Given the description of an element on the screen output the (x, y) to click on. 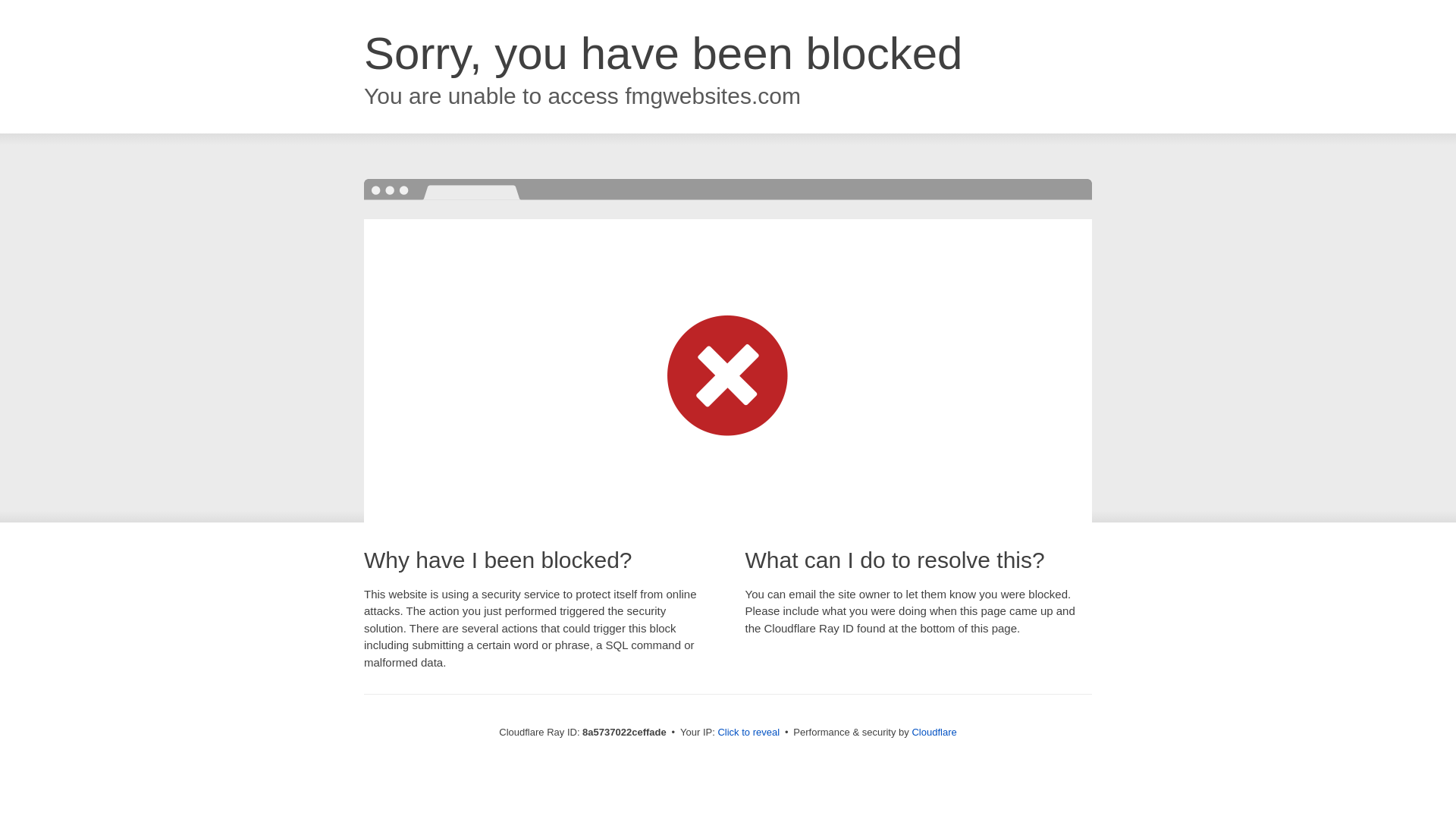
Click to reveal (747, 732)
Cloudflare (933, 731)
